Given the description of an element on the screen output the (x, y) to click on. 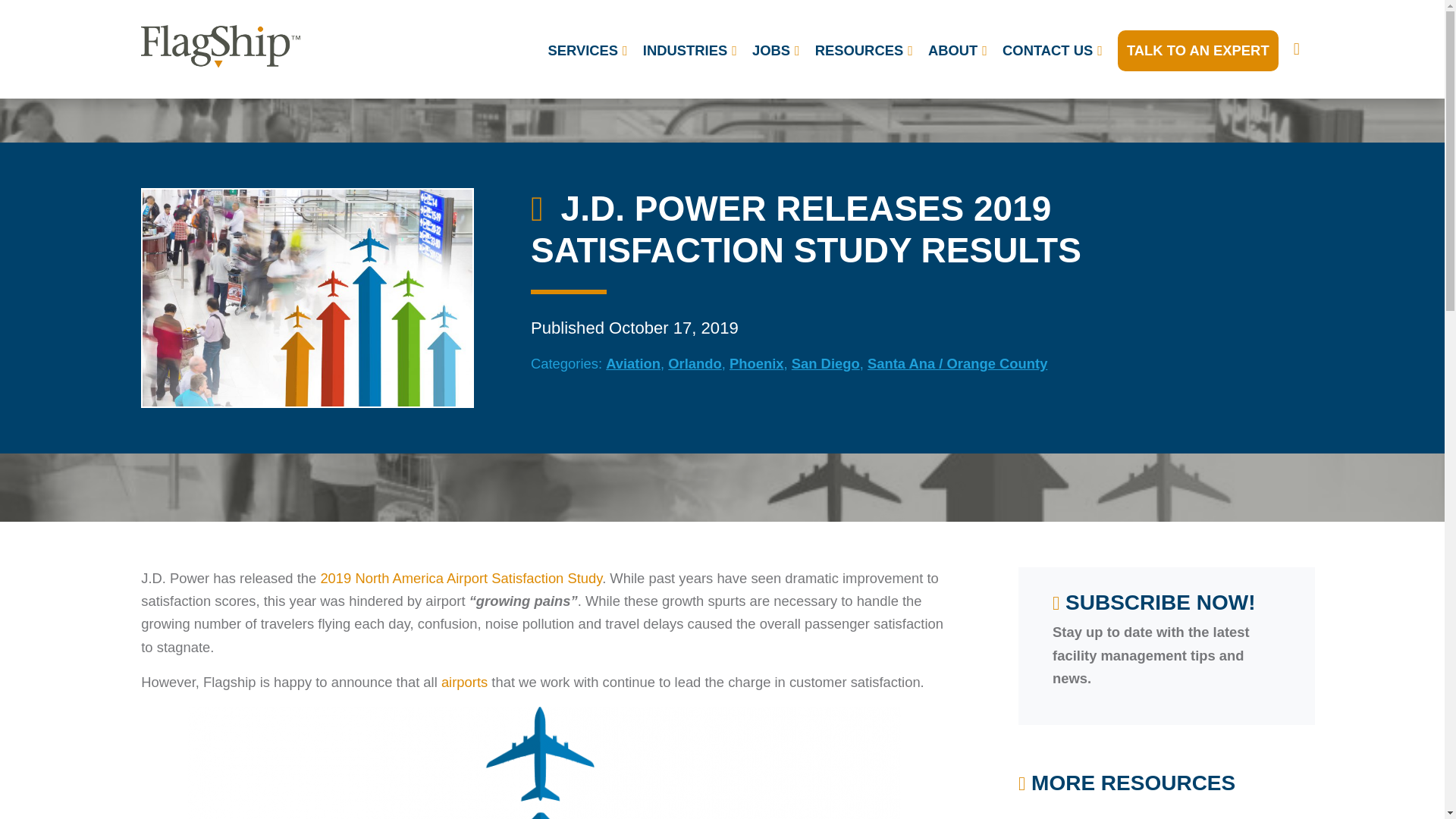
SERVICES (587, 50)
JOBS (776, 50)
Orlando (695, 363)
2019 JD Power North America Airport Satisfaction Study (544, 762)
airports (464, 682)
ABOUT (957, 50)
San Diego (826, 363)
RESOURCES (864, 50)
INDUSTRIES (689, 50)
Aviation (633, 363)
Flagship Facility Services Inc. (220, 46)
J.D. Power 2019 Airport Satisfaction Study (461, 578)
Phoenix (756, 363)
J.D. Power Releases 2019 Satisfaction Study Results (307, 297)
